Given the description of an element on the screen output the (x, y) to click on. 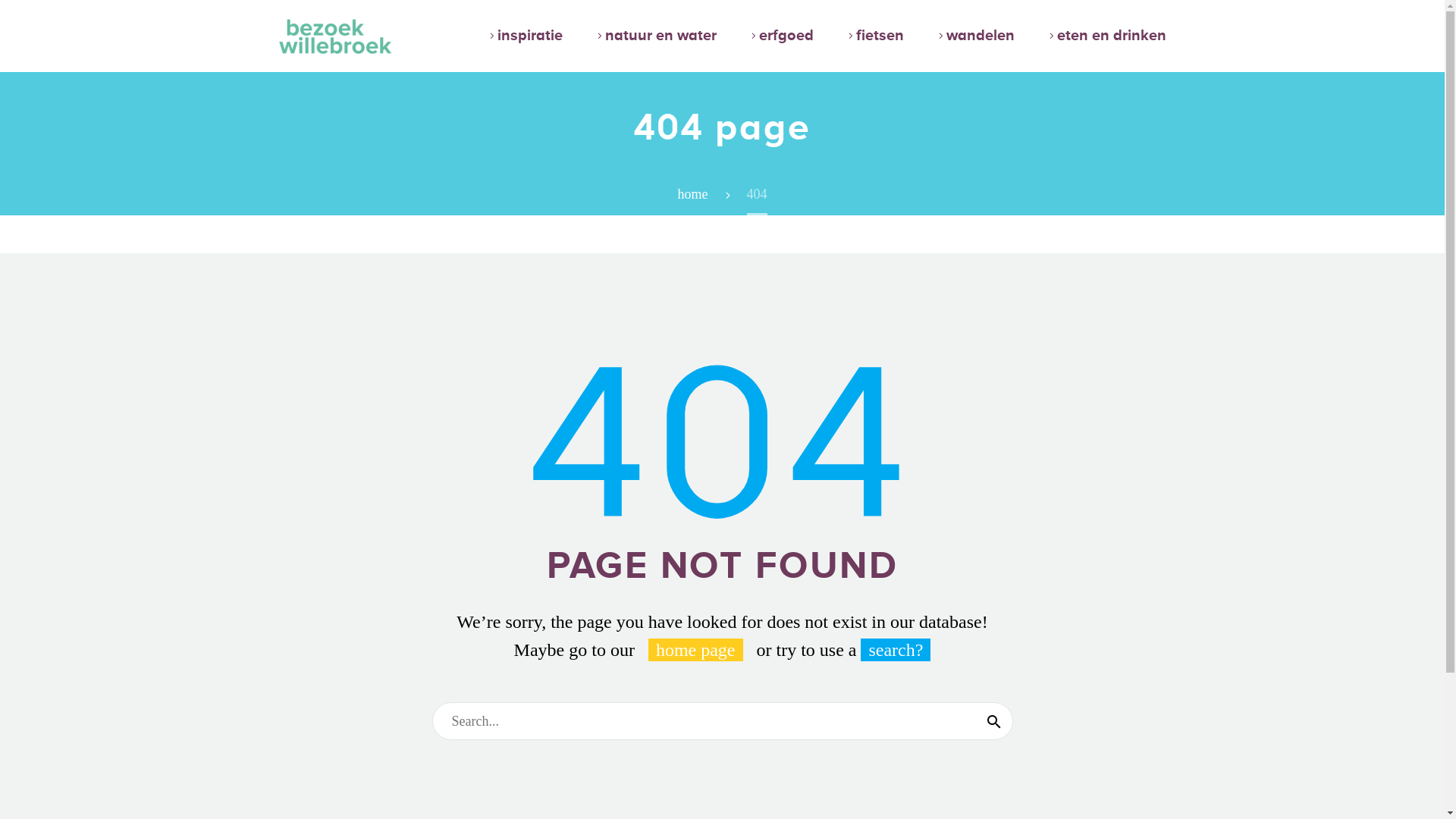
home page Element type: text (695, 649)
inspiratie Element type: text (523, 36)
natuur en water Element type: text (654, 36)
search? Element type: text (895, 649)
eten en drinken Element type: text (1105, 36)
erfgoed Element type: text (779, 36)
wandelen Element type: text (974, 36)
home Element type: text (692, 193)
fietsen Element type: text (873, 36)
